Given the description of an element on the screen output the (x, y) to click on. 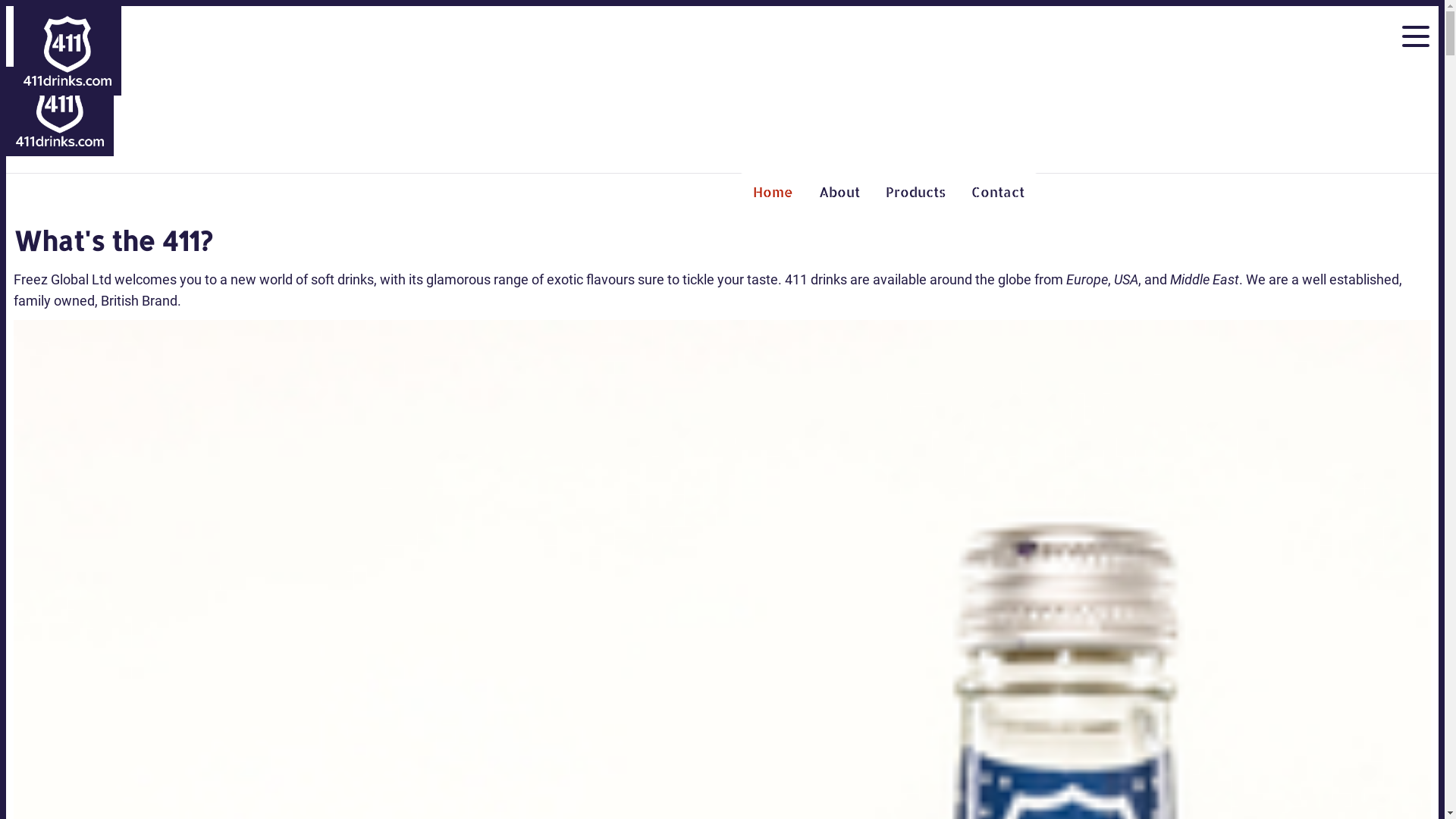
Home Element type: text (773, 191)
Products Element type: text (915, 191)
About Element type: text (839, 191)
Contact Element type: text (997, 191)
